Given the description of an element on the screen output the (x, y) to click on. 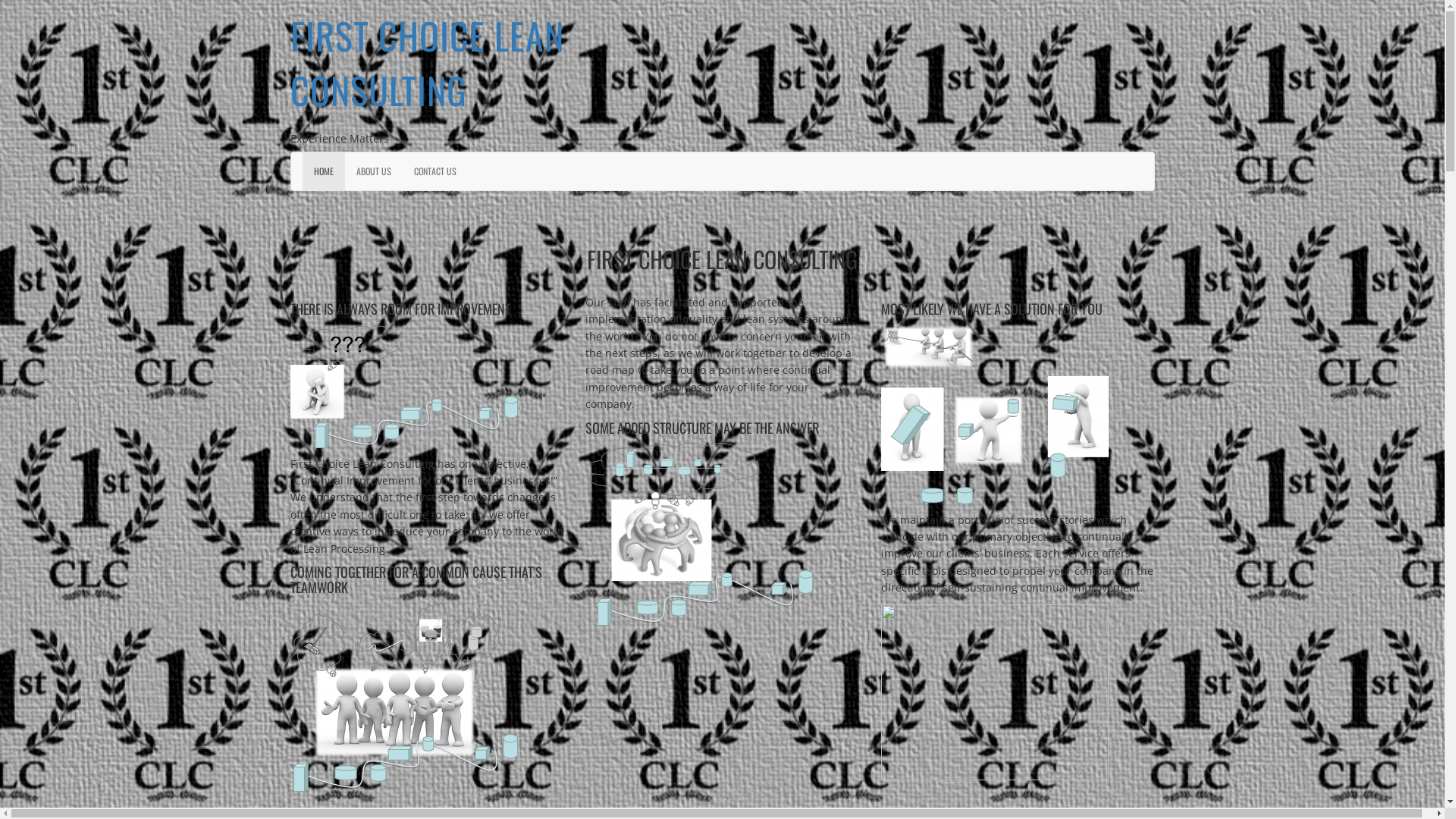
HOME Element type: text (322, 171)
CONTACT US Element type: text (434, 171)
ABOUT US Element type: text (372, 171)
FIRST CHOICE LEAN CONSULTING Element type: text (426, 62)
